Given the description of an element on the screen output the (x, y) to click on. 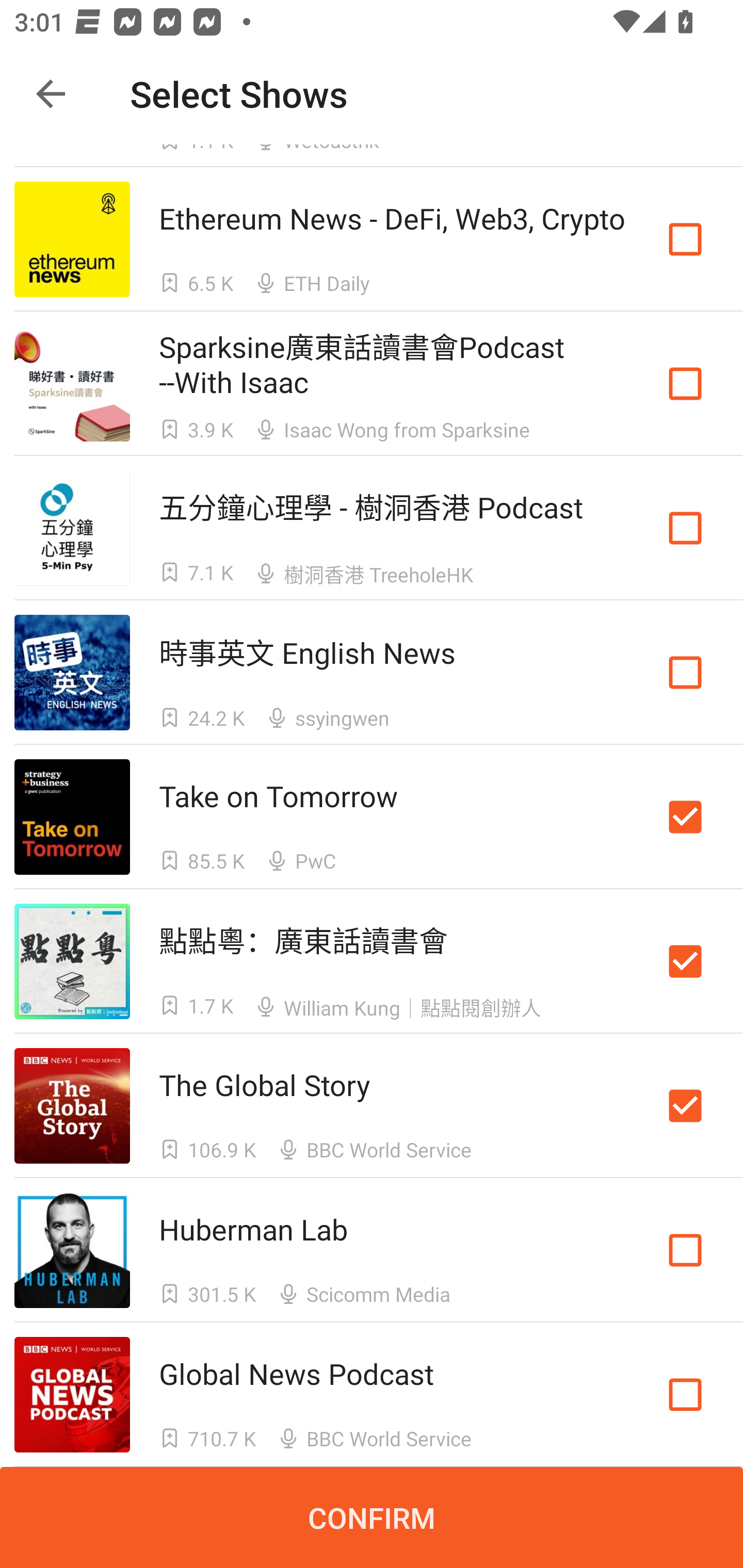
Navigate up (50, 93)
Take on Tomorrow Take on Tomorrow  85.5 K  PwC (371, 816)
CONFIRM (371, 1517)
